Given the description of an element on the screen output the (x, y) to click on. 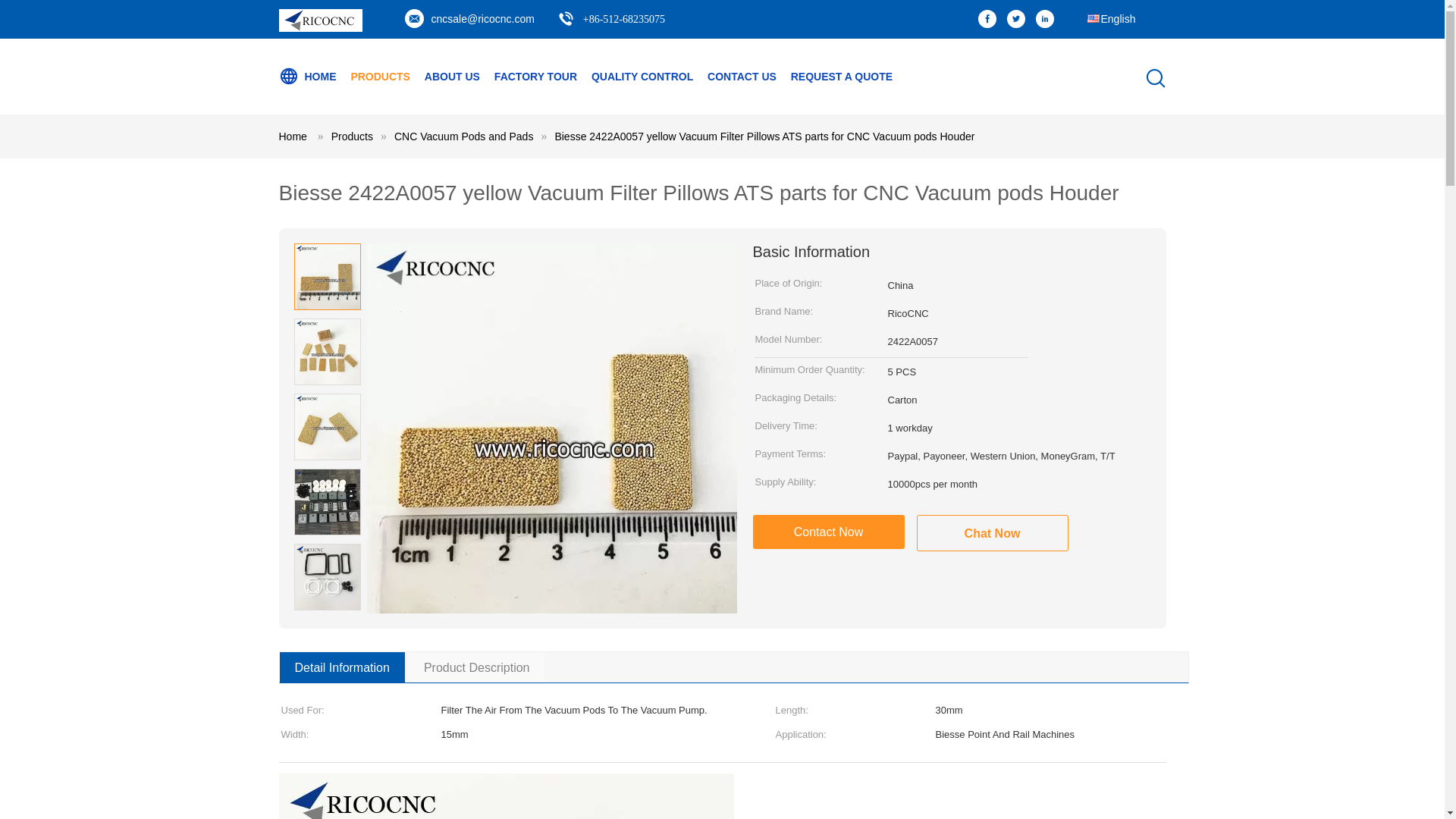
China CNC Toolholder Clips manufacturer (320, 28)
CNC Vacuum Pods and Pads (463, 136)
CONTACT US (741, 76)
Products (351, 136)
Chat Now (991, 533)
Home (293, 136)
Contact Now (828, 531)
QUALITY CONTROL (642, 76)
REQUEST A QUOTE (841, 76)
FACTORY TOUR (535, 76)
English (1109, 12)
